Given the description of an element on the screen output the (x, y) to click on. 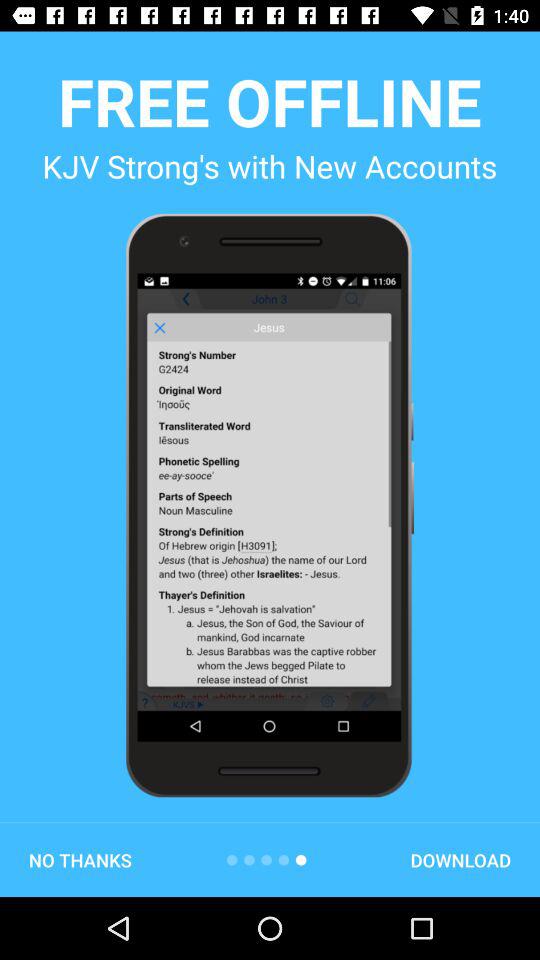
flip until free offline app (269, 101)
